Given the description of an element on the screen output the (x, y) to click on. 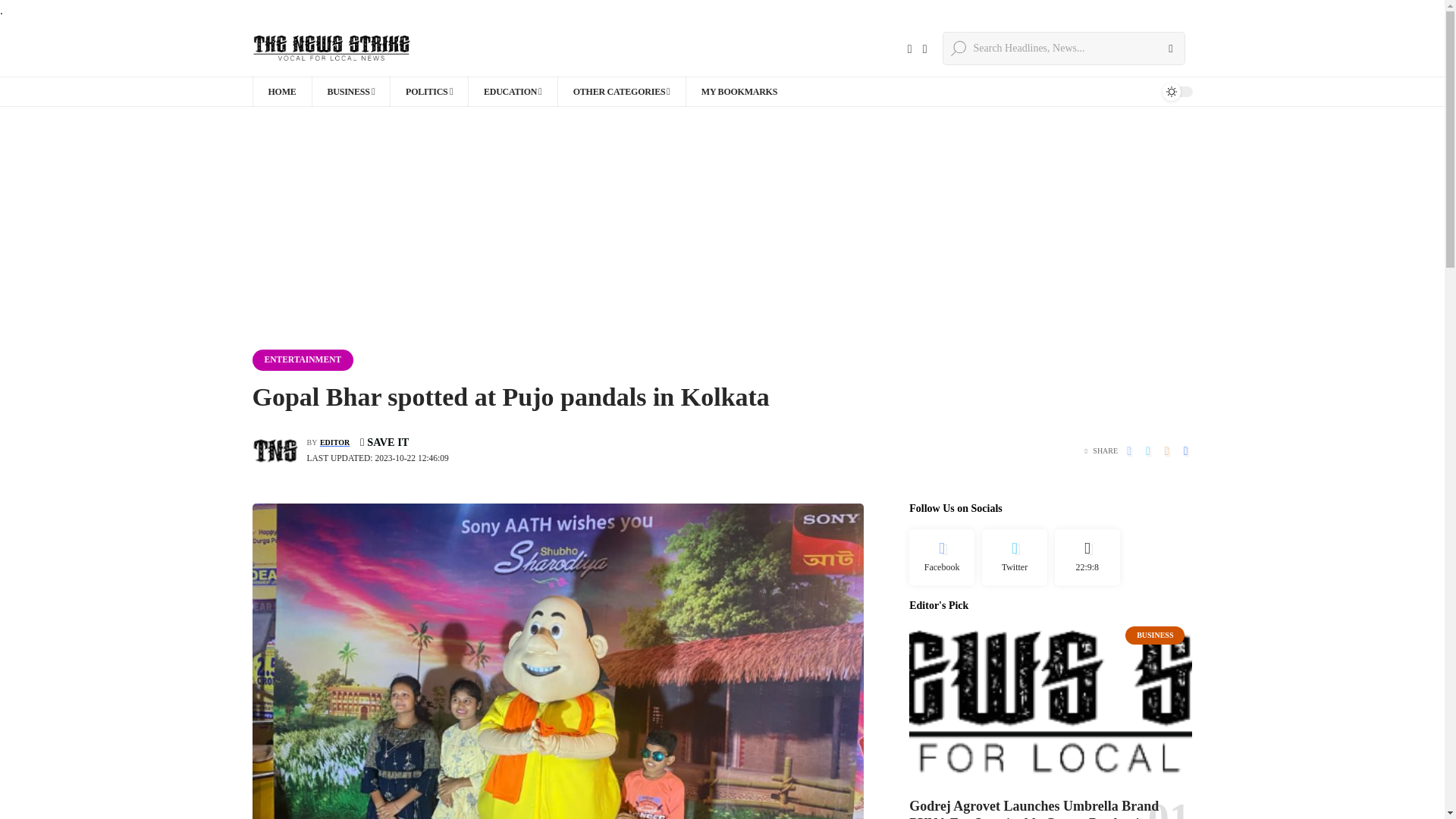
POLITICS (428, 91)
HOME (281, 91)
EDUCATION (512, 91)
The News Strike (332, 48)
BUSINESS (350, 91)
